Given the description of an element on the screen output the (x, y) to click on. 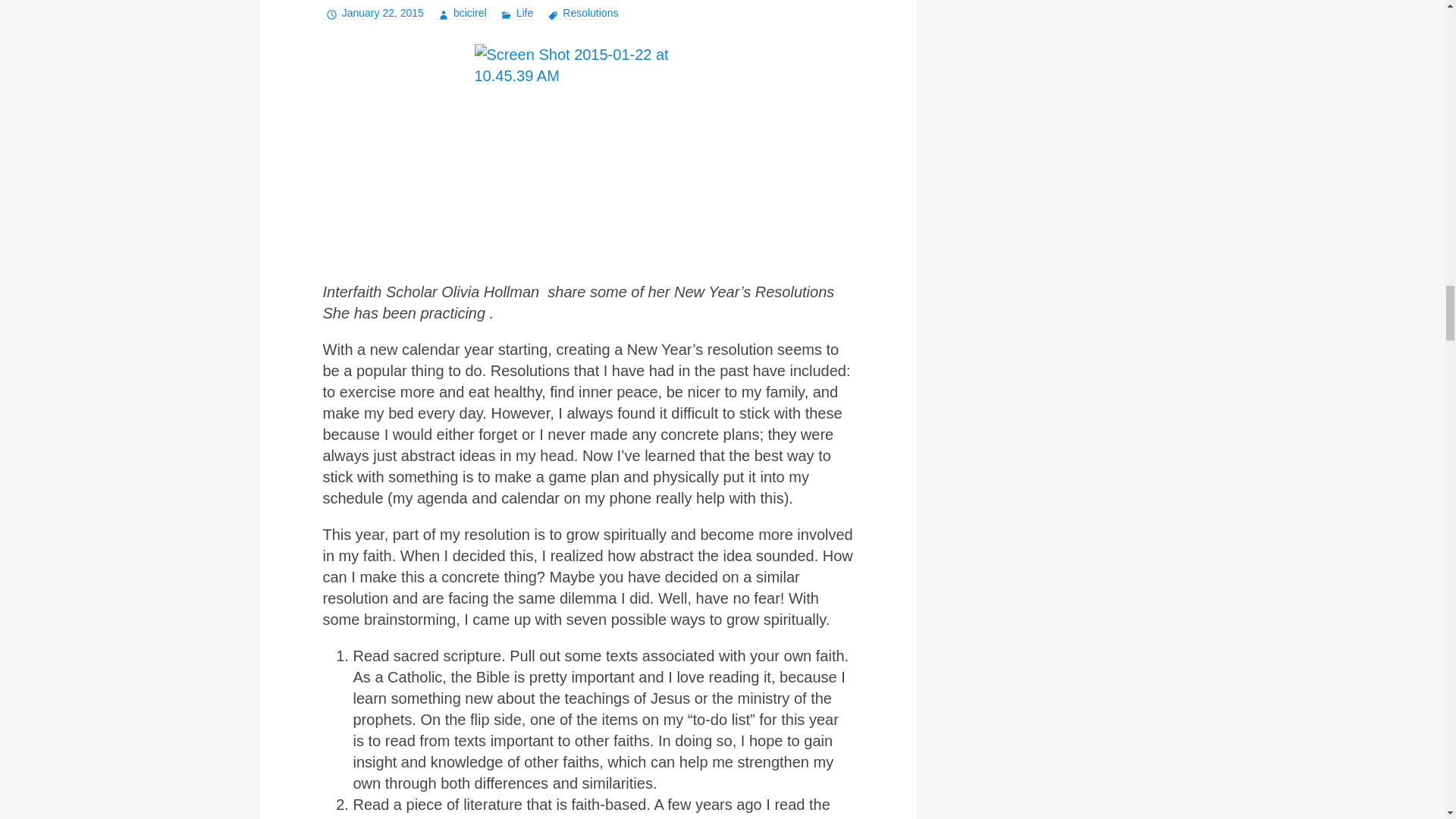
bcicirel (459, 12)
January 22, 2015 (373, 12)
Life (514, 12)
